Given the description of an element on the screen output the (x, y) to click on. 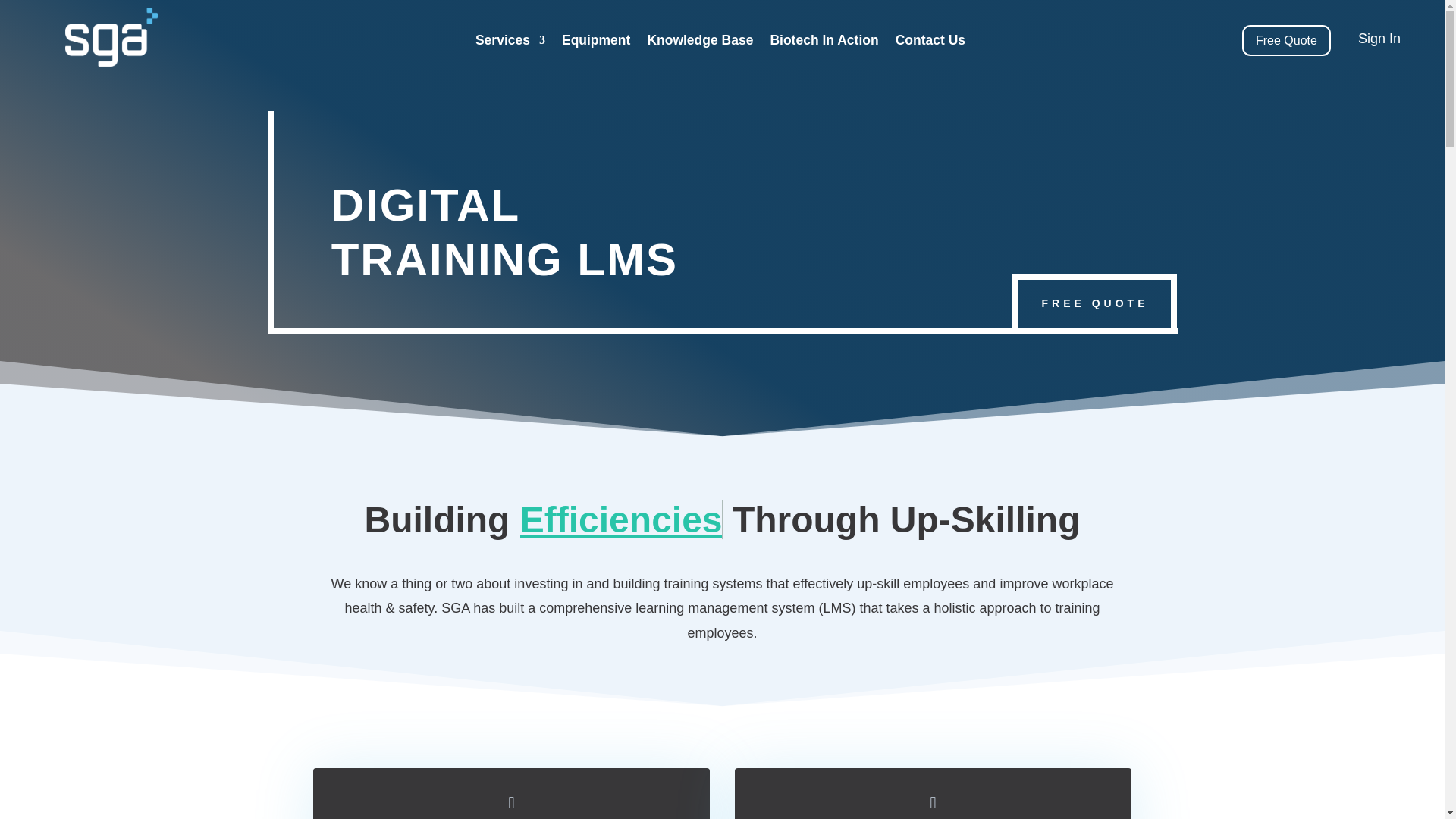
Contact Us (930, 43)
Free Quote (1285, 40)
Biotech In Action (823, 43)
Sign In (1378, 38)
Knowledge Base (699, 43)
Services (510, 43)
FREE QUOTE (1093, 303)
Equipment (596, 43)
